Given the description of an element on the screen output the (x, y) to click on. 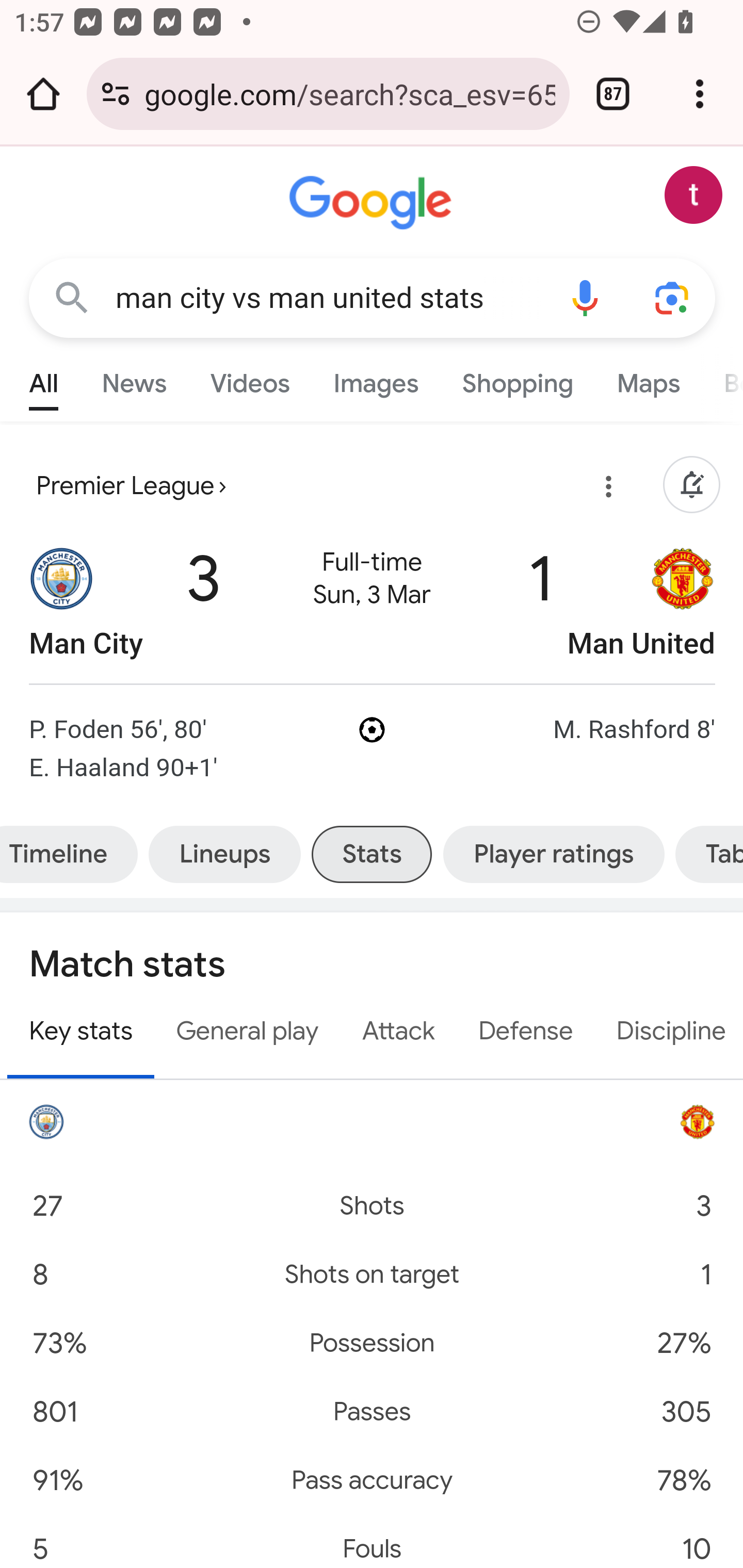
Open the home page (43, 93)
Connection is secure (115, 93)
Switch or close tabs (612, 93)
Customize and control Google Chrome (699, 93)
Google (372, 203)
Google Search (71, 296)
Search using your camera or photos (672, 296)
man city vs man united stats (328, 297)
News (134, 378)
Videos (249, 378)
Images (376, 378)
Shopping (516, 378)
Maps (647, 378)
Notifications (691, 485)
Premier League› Premier League › (131, 485)
More options (605, 489)
Man City (61, 603)
Man United (683, 603)
Timeline (72, 854)
Lineups (224, 854)
Stats (371, 854)
Player ratings (552, 854)
Key stats (81, 1032)
General play (247, 1031)
Attack (397, 1031)
Defense (524, 1031)
Discipline (668, 1031)
